Given the description of an element on the screen output the (x, y) to click on. 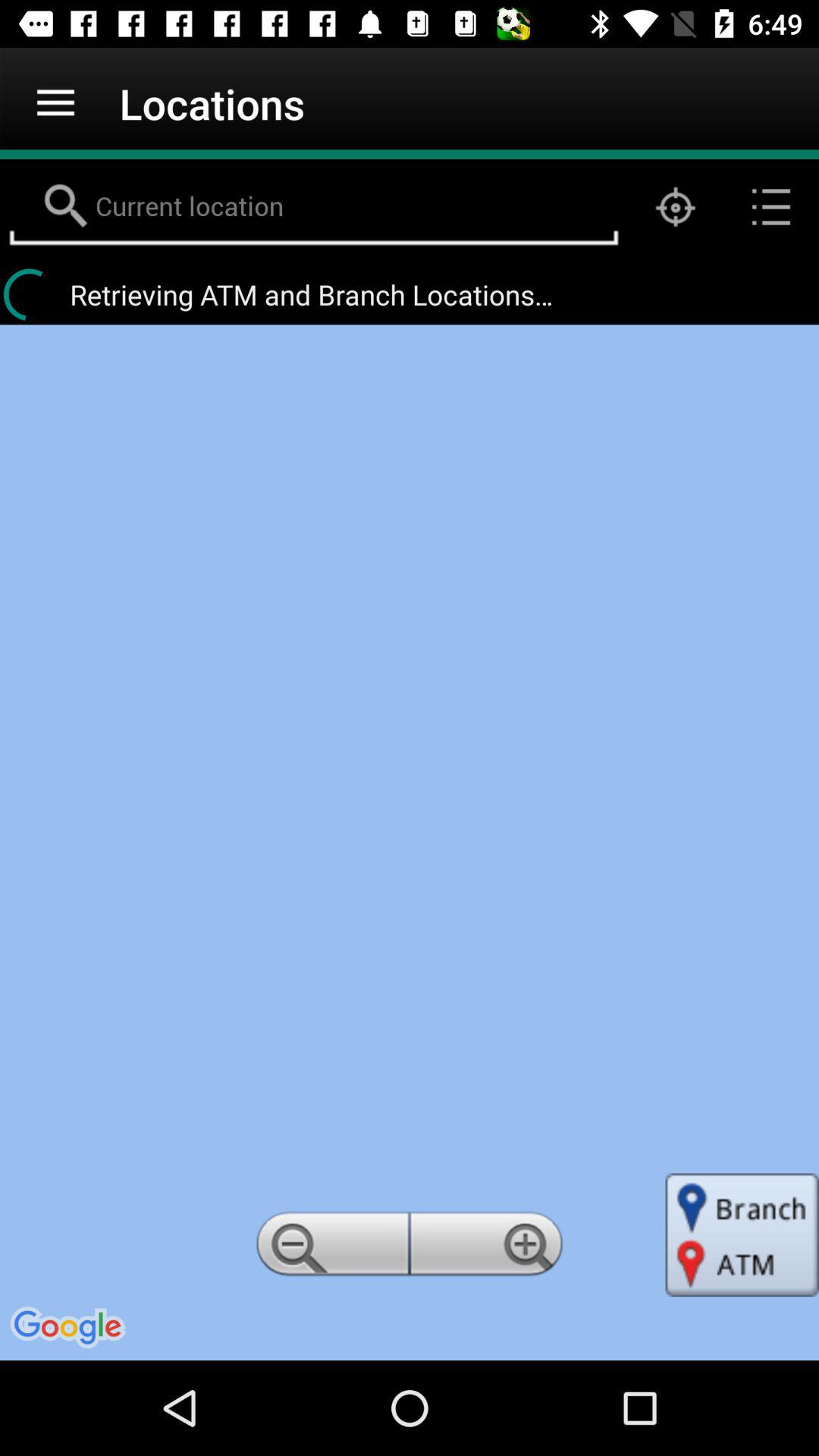
turn off item at the center (409, 842)
